Given the description of an element on the screen output the (x, y) to click on. 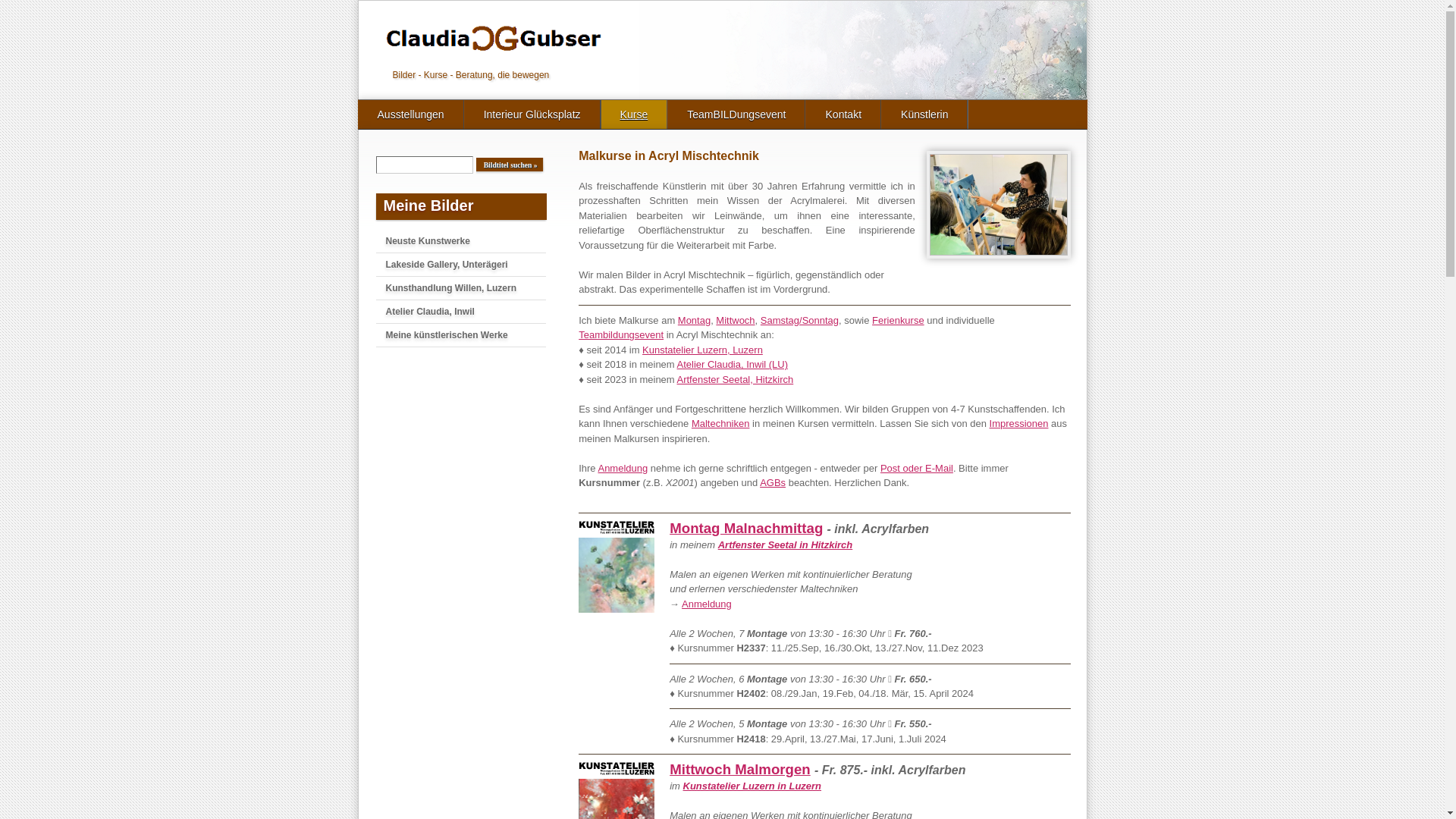
Kontakt Element type: text (843, 120)
AGBs Element type: text (772, 482)
Anmeldung Element type: text (706, 603)
Mittwoch Element type: text (734, 320)
Kunstatelier Luzern, Luzern Element type: text (702, 349)
Ferienkurse Element type: text (898, 320)
Kunstatelier Luzern in Luzern Element type: text (752, 785)
Teambildungsevent Element type: text (620, 334)
Mittwoch Malmorgen Element type: text (739, 769)
Atelier Claudia, Inwil (LU) Element type: text (732, 364)
Samstag/Sonntag Element type: text (799, 320)
Montag Element type: text (693, 320)
Kurse Element type: text (634, 120)
Artfenster Seetal in Hitzkirch Element type: text (785, 544)
Neuste Kunstwerke Element type: text (465, 240)
Anmeldung Element type: text (622, 467)
Montag Malnachmittag Element type: text (745, 528)
Kunsthandlung Willen, Luzern Element type: text (465, 287)
Impressionen Element type: text (1018, 423)
Ausstellungen Element type: text (409, 120)
TeamBILDungsevent Element type: text (736, 120)
Maltechniken Element type: text (720, 423)
Atelier Claudia, Inwil Element type: text (465, 311)
Artfenster Seetal, Hitzkirch Element type: text (735, 379)
Post oder E-Mail Element type: text (916, 467)
